Given the description of an element on the screen output the (x, y) to click on. 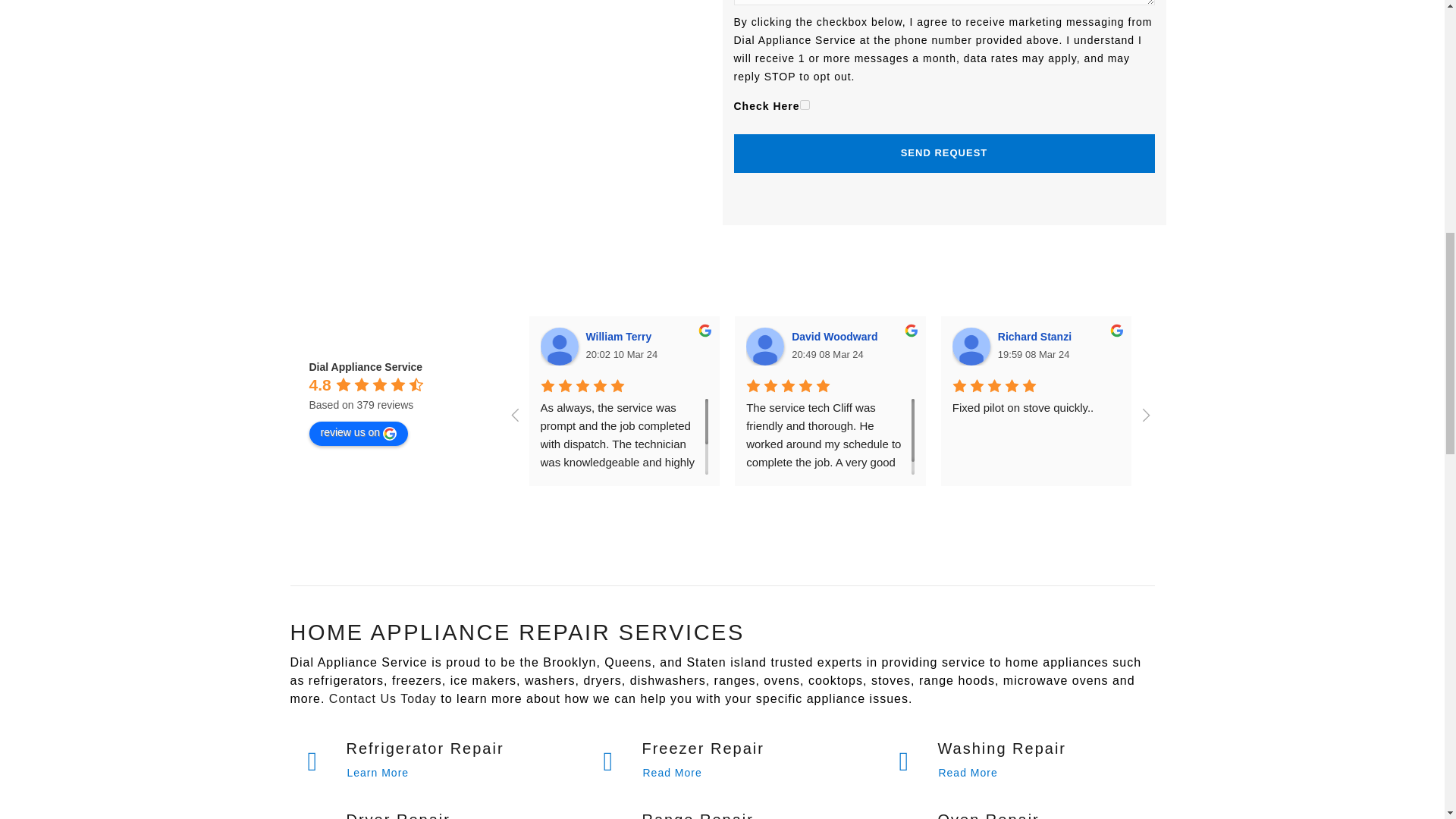
William Terry (620, 336)
David Woodward (764, 346)
William Terry (559, 346)
Check Here (804, 104)
Dial Appliance Service (365, 367)
Richard Stanzi (971, 346)
David Woodward (837, 336)
Deidre Castellano (1176, 346)
Deidre Castellano (1250, 336)
review us on (358, 433)
Richard Stanzi (1036, 336)
SEND REQUEST (943, 153)
SEND REQUEST (943, 153)
